Given the description of an element on the screen output the (x, y) to click on. 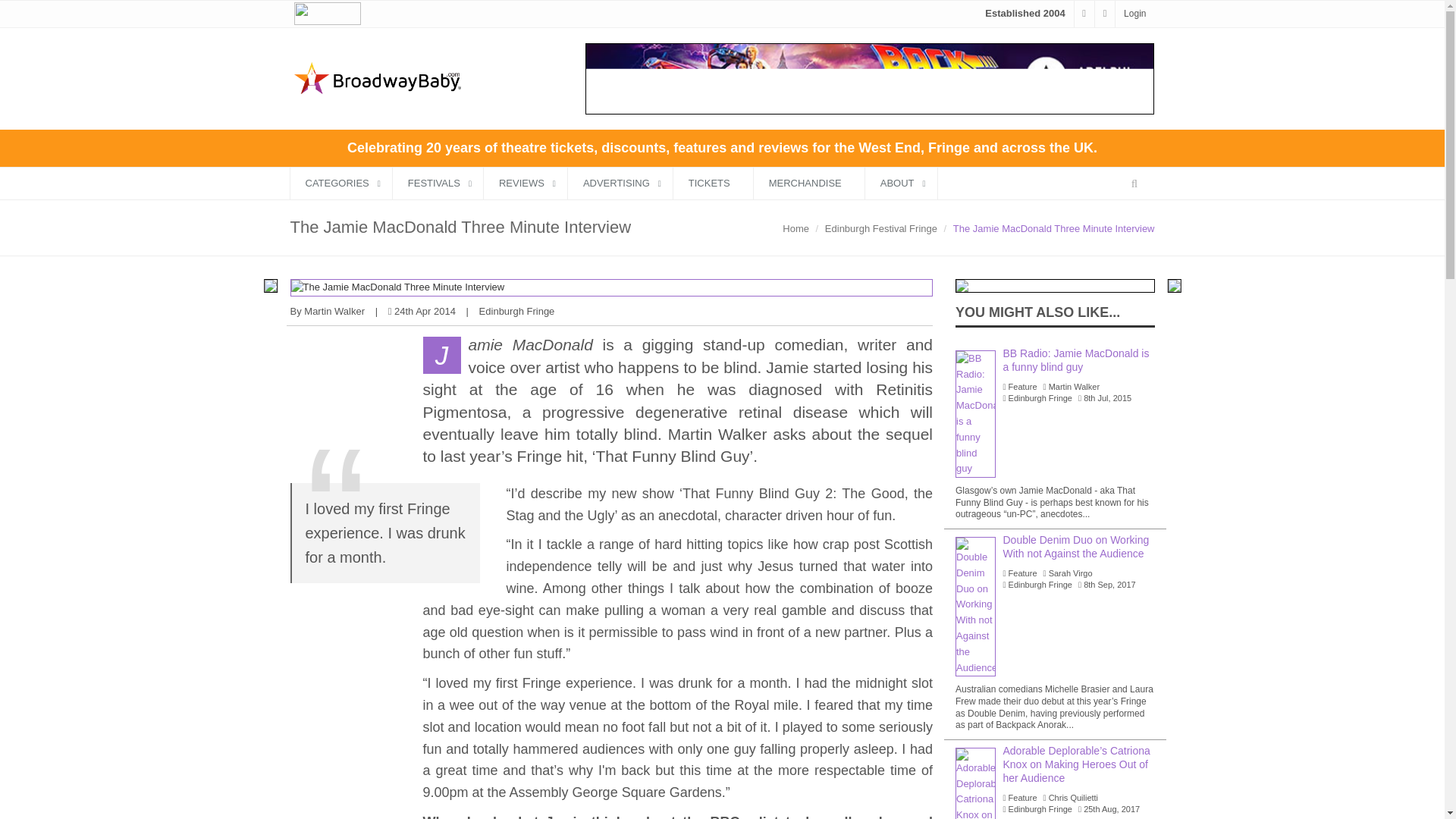
The Jamie MacDonald Three Minute Interview (611, 287)
Login (1134, 13)
CATEGORIES (340, 183)
FESTIVALS (438, 183)
